Given the description of an element on the screen output the (x, y) to click on. 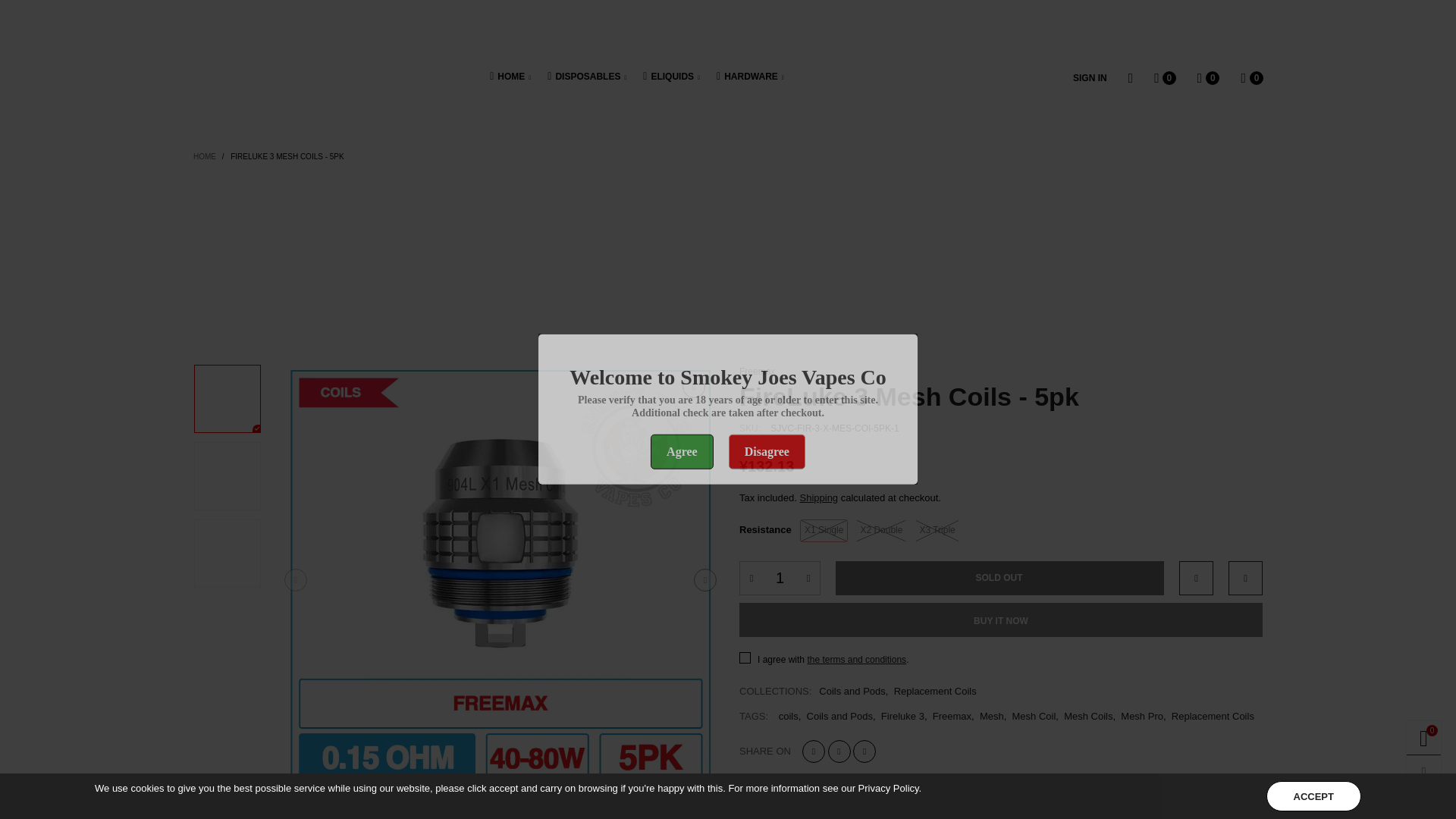
1 (779, 577)
Home (510, 76)
DISPOSABLES (586, 76)
ELIQUIDS (671, 76)
Smokey Joes Vapes Co (255, 81)
HOME (510, 76)
